Given the description of an element on the screen output the (x, y) to click on. 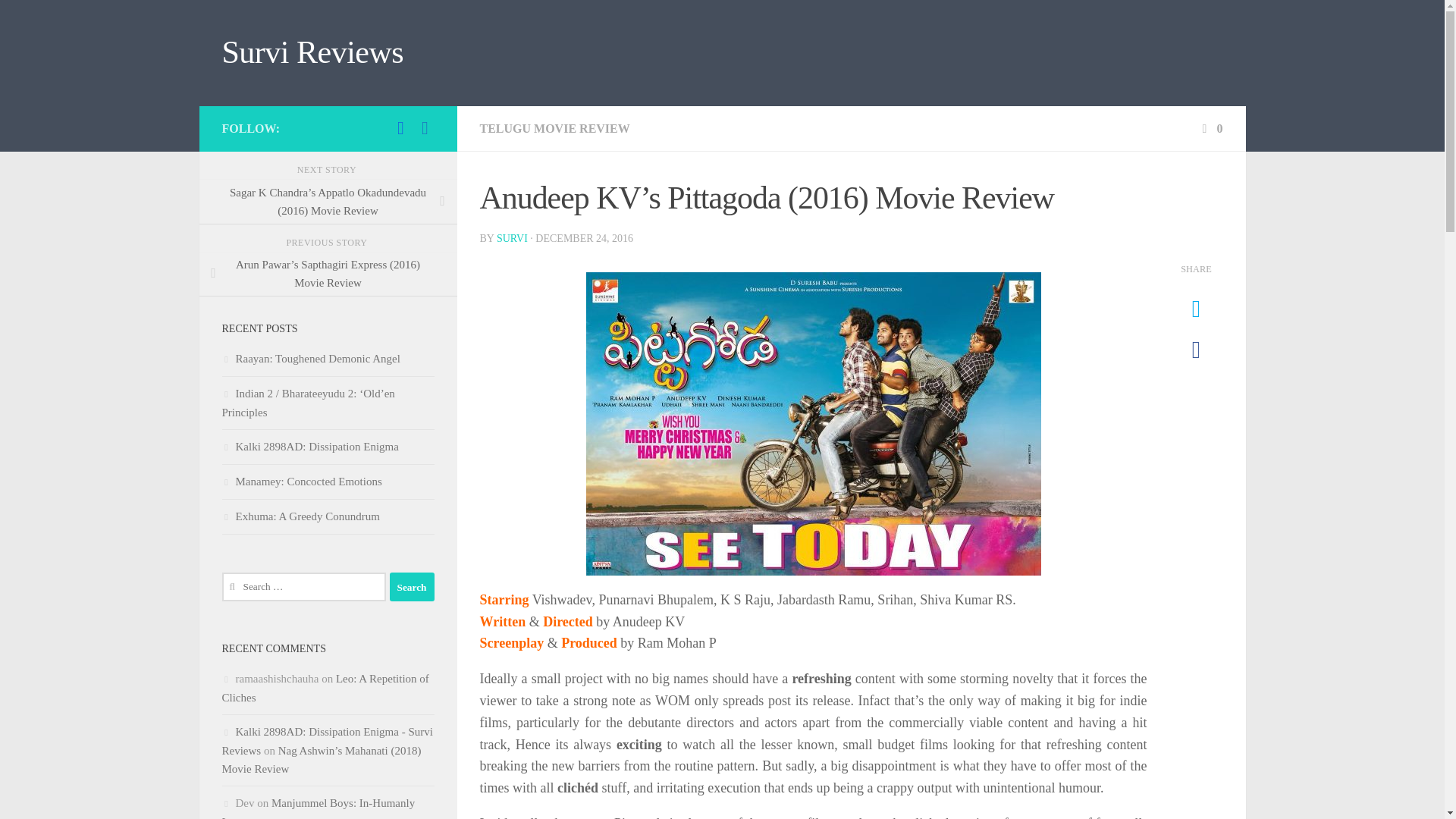
Posts by survi (511, 238)
Follow me on Facebook (423, 127)
Manjummel Boys: In-Humanly Love (317, 807)
Skip to content (59, 20)
Raayan: Toughened Demonic Angel (309, 358)
Kalki 2898AD: Dissipation Enigma - Survi Reviews (326, 740)
0 (1210, 128)
SURVI (511, 238)
Kalki 2898AD: Dissipation Enigma (309, 446)
TELUGU MOVIE REVIEW (553, 128)
Manamey: Concocted Emotions (301, 481)
Exhuma: A Greedy Conundrum (299, 516)
Search (411, 586)
Leo: A Repetition of Cliches (324, 687)
Follow me on Twitter (400, 127)
